Given the description of an element on the screen output the (x, y) to click on. 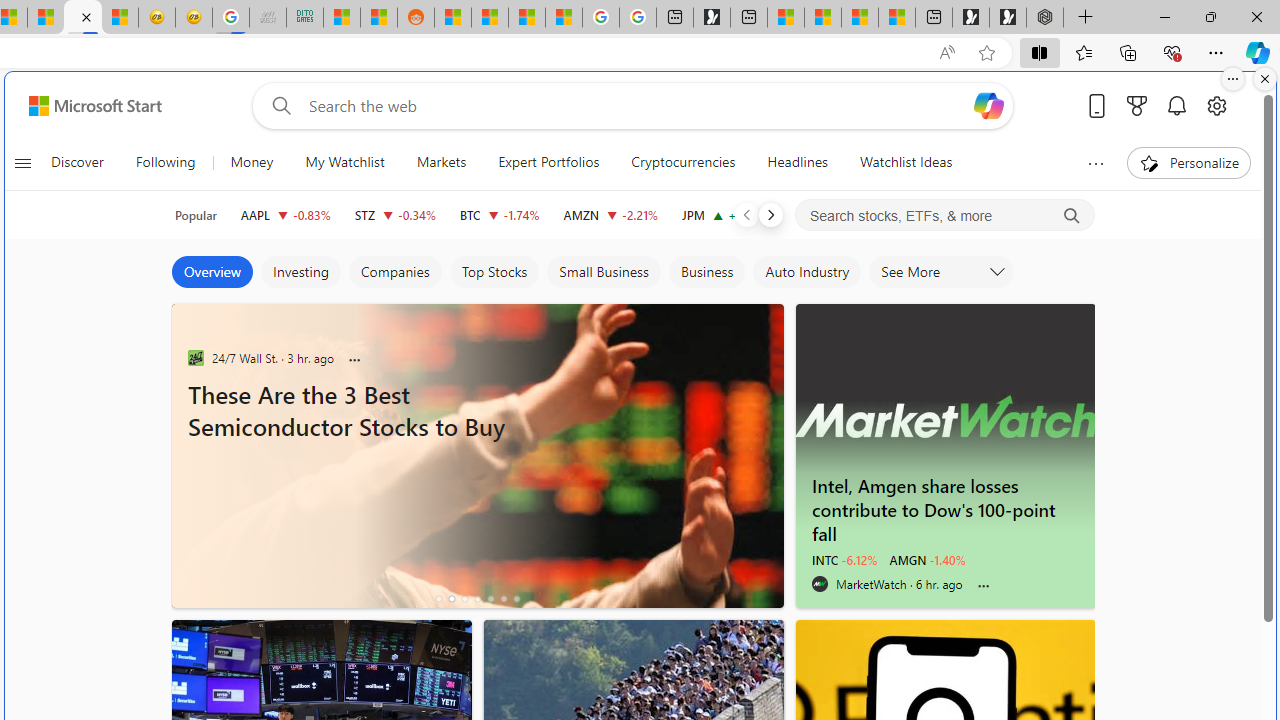
Search stocks, ETFs, & more (945, 215)
Cryptocurrencies (683, 162)
R******* | Trusted Community Engagement and Contributions (453, 17)
Microsoft Start Gaming (711, 17)
INTC -6.12% (844, 560)
Money (251, 162)
Overview (212, 272)
Web search (278, 105)
BTC Bitcoin decrease 60,359.26 -1,049.65 -1.74% (499, 214)
Companies (394, 272)
